Given the description of an element on the screen output the (x, y) to click on. 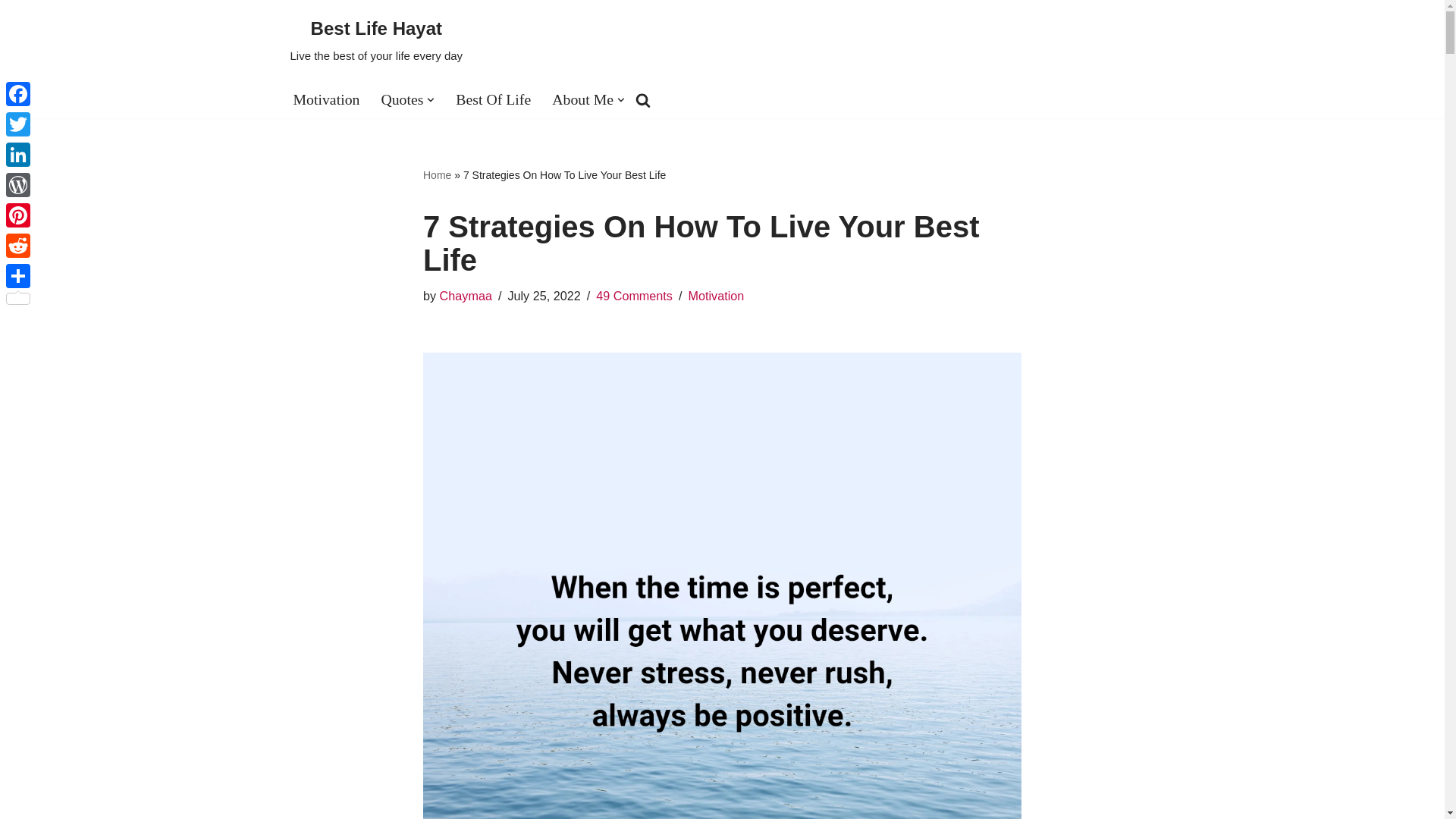
Skip to content (376, 40)
49 Comments (11, 31)
Motivation (633, 295)
Quotes (715, 295)
Best Of Life (401, 99)
Posts by Chaymaa (493, 99)
Chaymaa (465, 295)
About Me (465, 295)
Home (581, 99)
Motivation (437, 174)
